Given the description of an element on the screen output the (x, y) to click on. 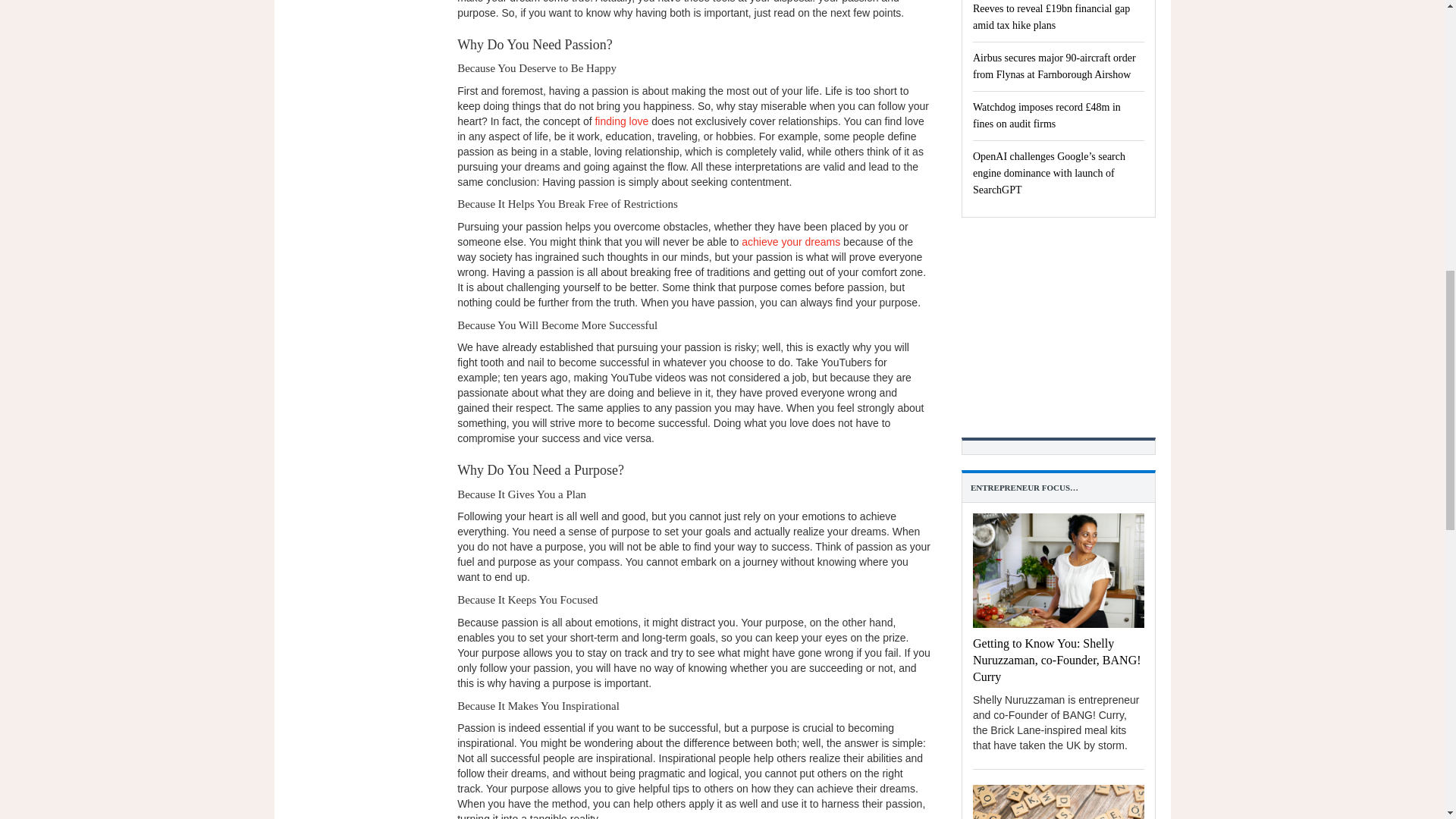
achieve your dreams (790, 241)
finding love (620, 121)
